Given the description of an element on the screen output the (x, y) to click on. 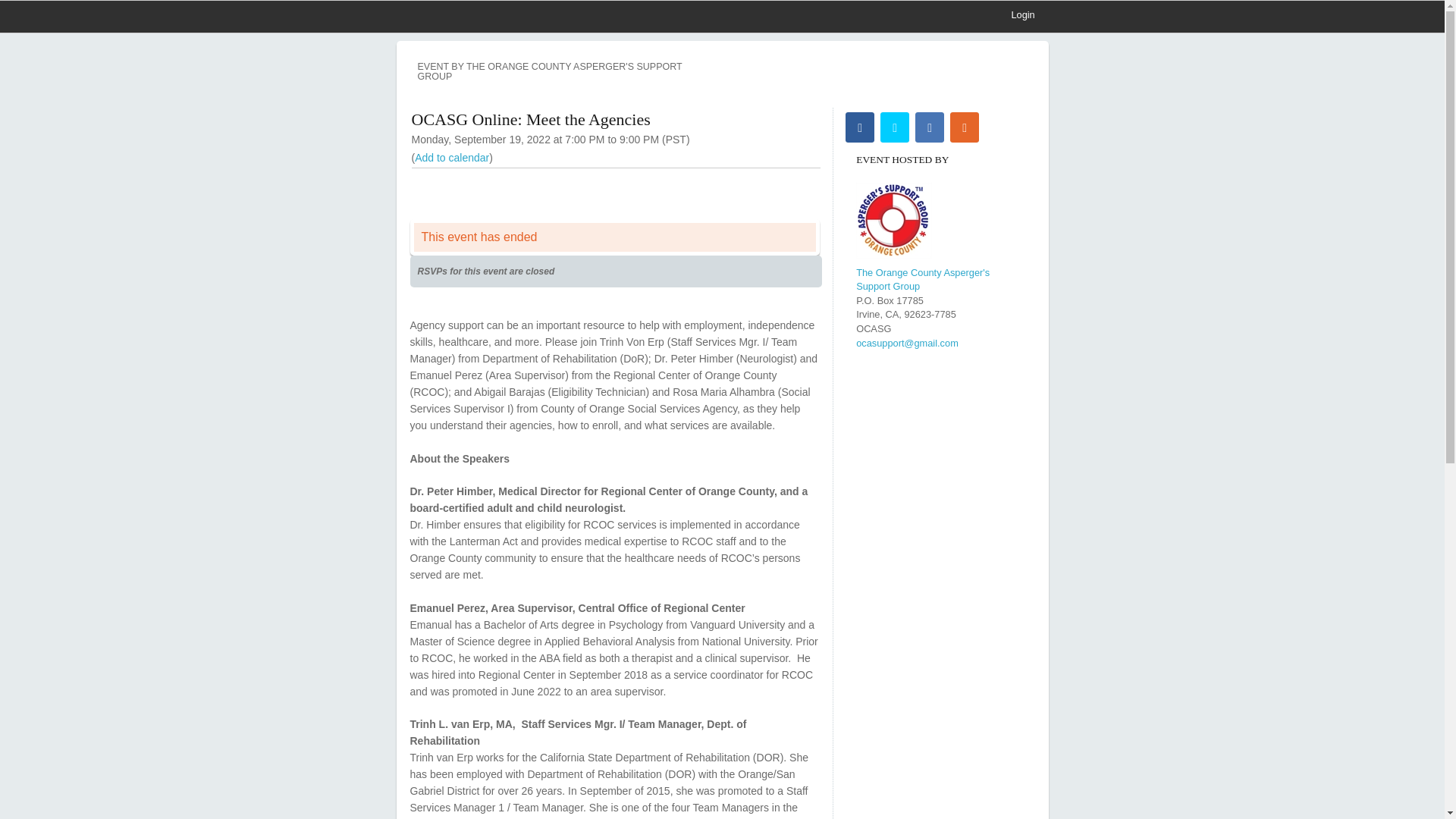
Login (1021, 14)
The Orange County Asperger's Support Group (923, 279)
Add to calendar (451, 157)
